Given the description of an element on the screen output the (x, y) to click on. 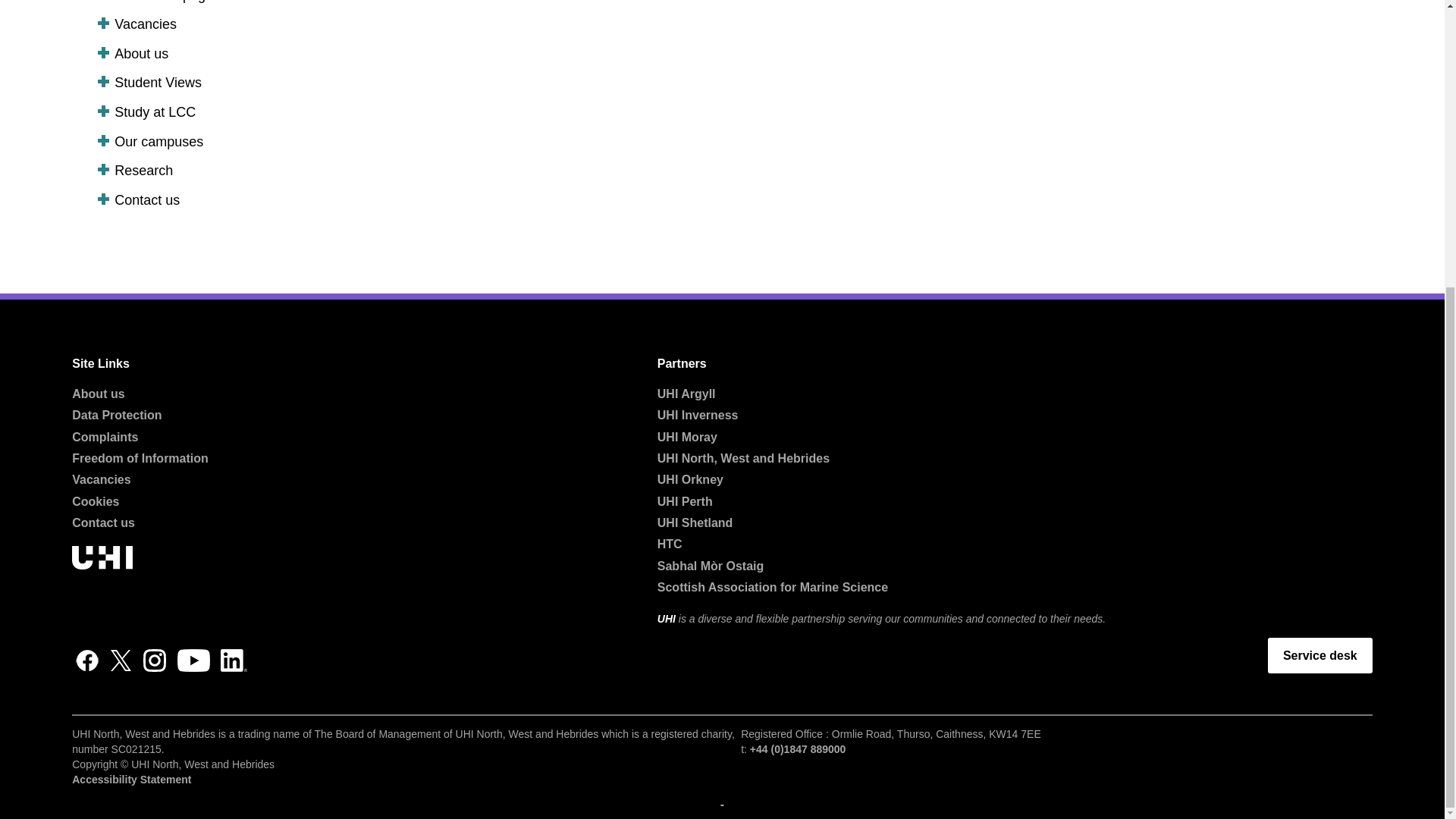
UHI Inverness (698, 414)
HTC (670, 543)
UHI Shetland (695, 522)
About us (97, 393)
Freedom of Information (139, 458)
Data Protection (116, 414)
UHI North, West and Hebrides (743, 458)
Orkney College UHI (690, 479)
Vacancies (101, 479)
UHI Perth (685, 501)
